Given the description of an element on the screen output the (x, y) to click on. 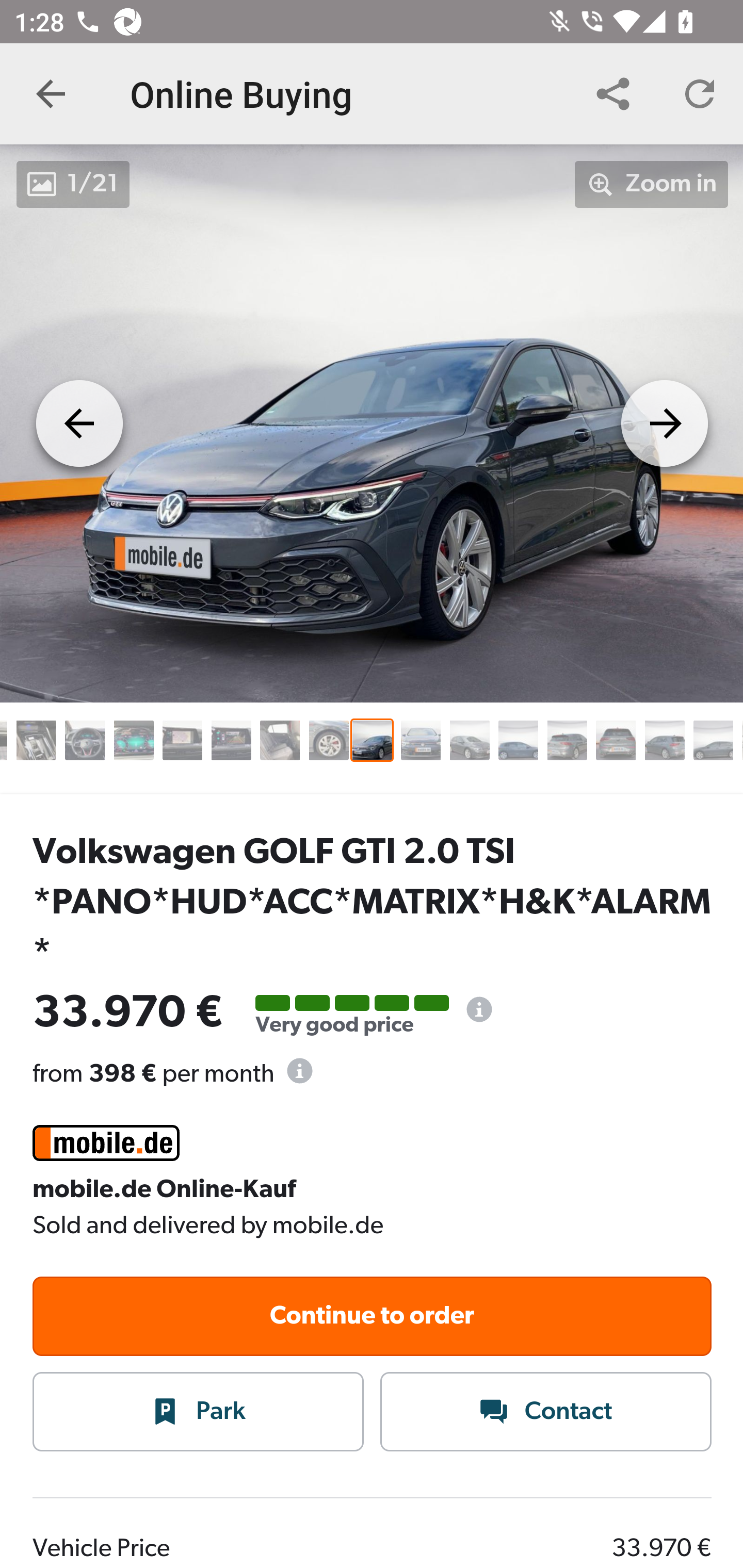
Navigate up (50, 93)
synchronize (612, 93)
synchronize (699, 93)
Zoom in (651, 184)
Park (198, 1412)
Contact (545, 1412)
